Given the description of an element on the screen output the (x, y) to click on. 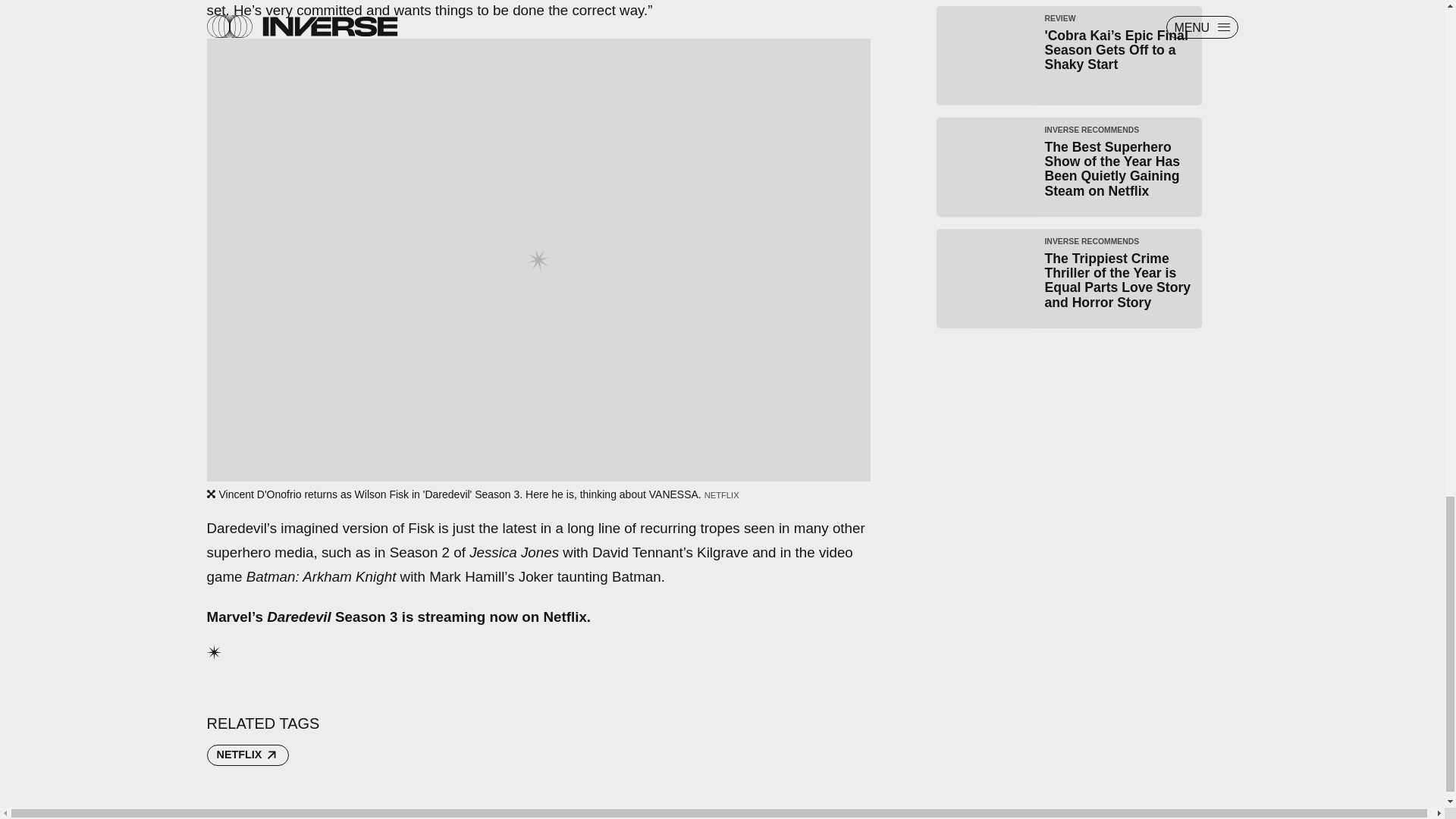
NETFLIX (247, 754)
